Given the description of an element on the screen output the (x, y) to click on. 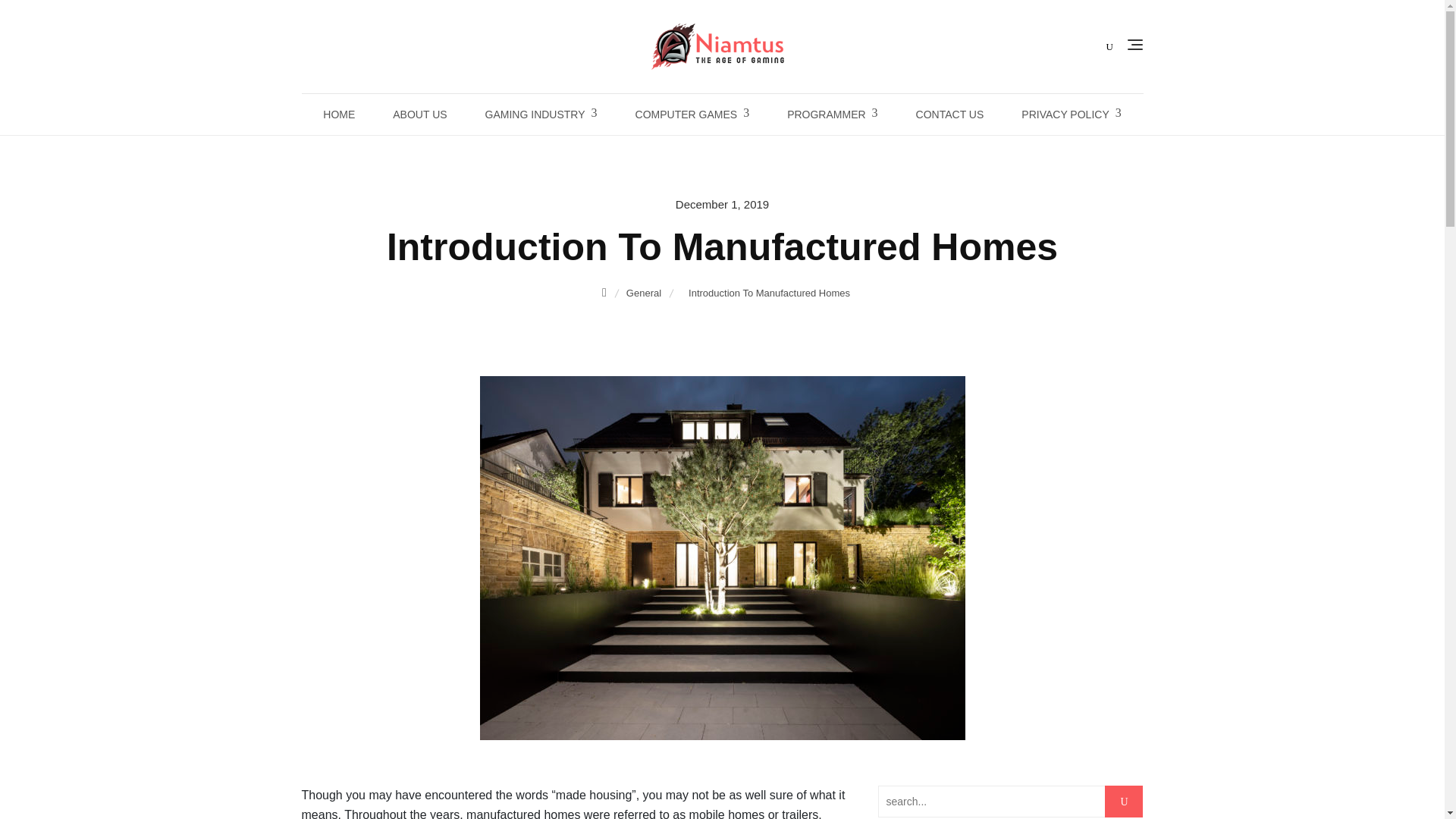
PRIVACY POLICY (1071, 114)
Home (605, 292)
COMPUTER GAMES (691, 114)
HOME (339, 114)
Search (42, 18)
General (644, 292)
CONTACT US (949, 114)
December 1, 2019 (721, 203)
PROGRAMMER (832, 114)
ABOUT US (419, 114)
GAMING INDUSTRY (540, 114)
Search (29, 22)
